Given the description of an element on the screen output the (x, y) to click on. 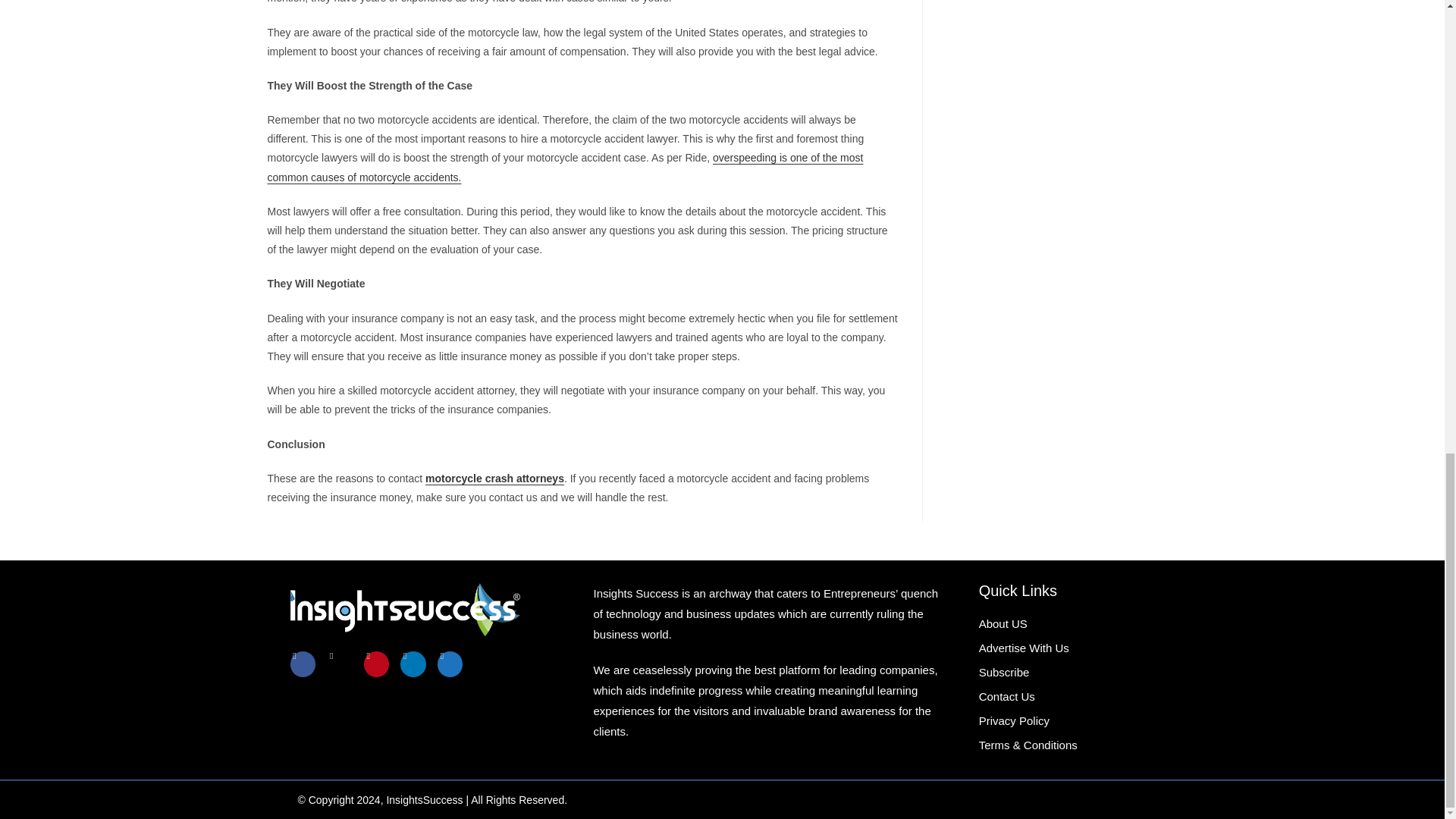
motorcycle crash attorneys (494, 478)
